Given the description of an element on the screen output the (x, y) to click on. 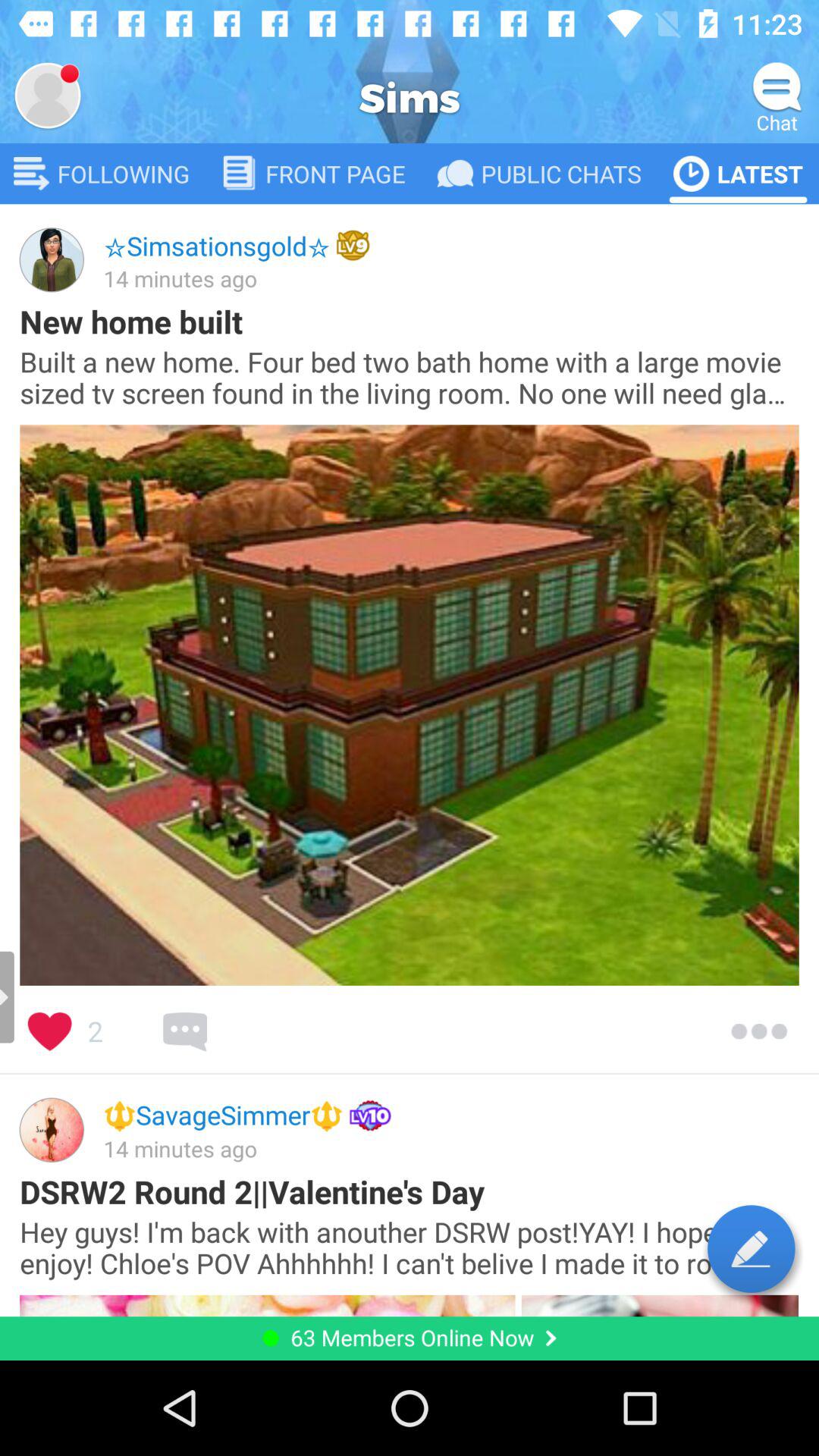
profile page (47, 95)
